Given the description of an element on the screen output the (x, y) to click on. 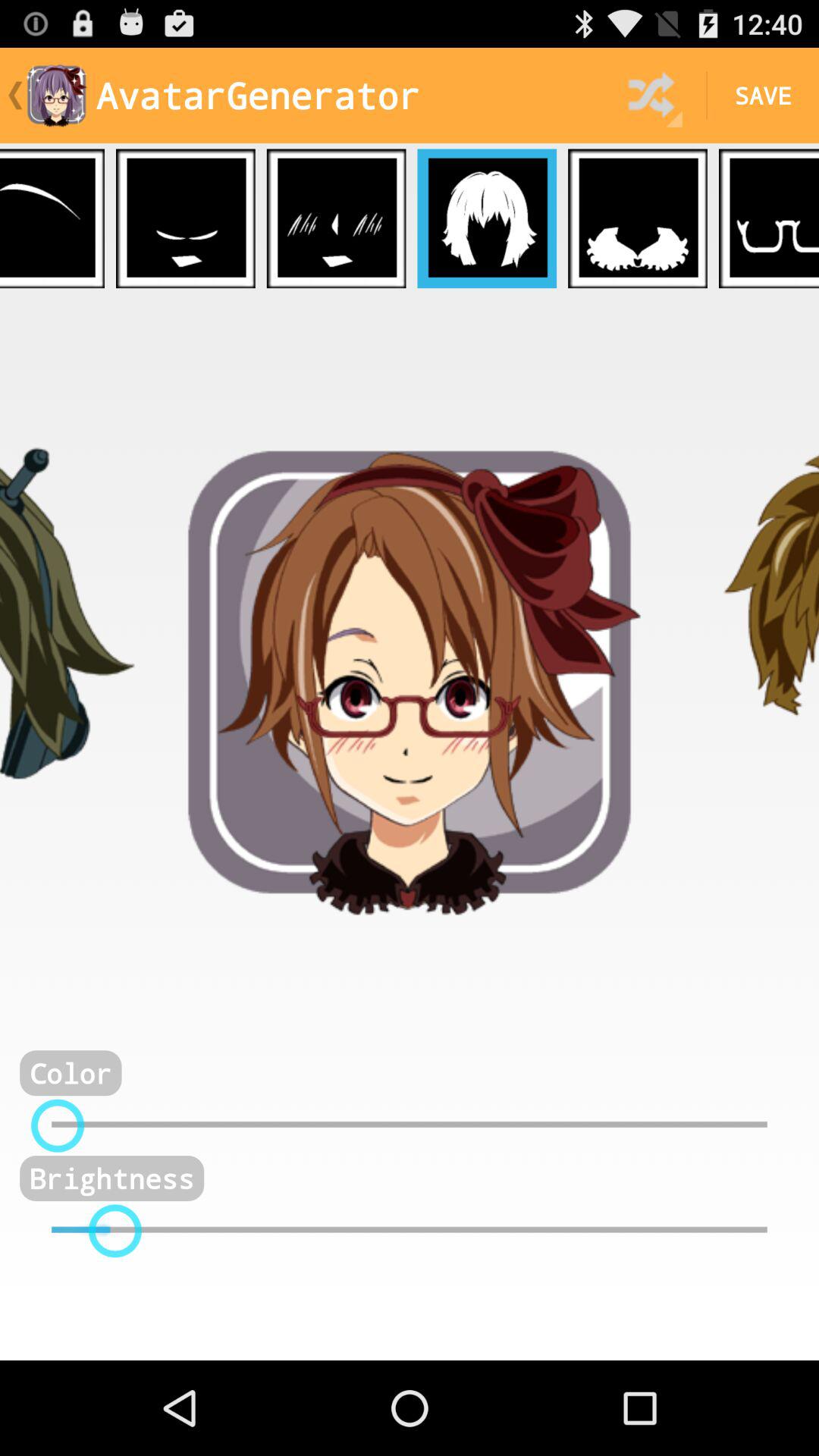
open 5th funtion in game (637, 218)
